Given the description of an element on the screen output the (x, y) to click on. 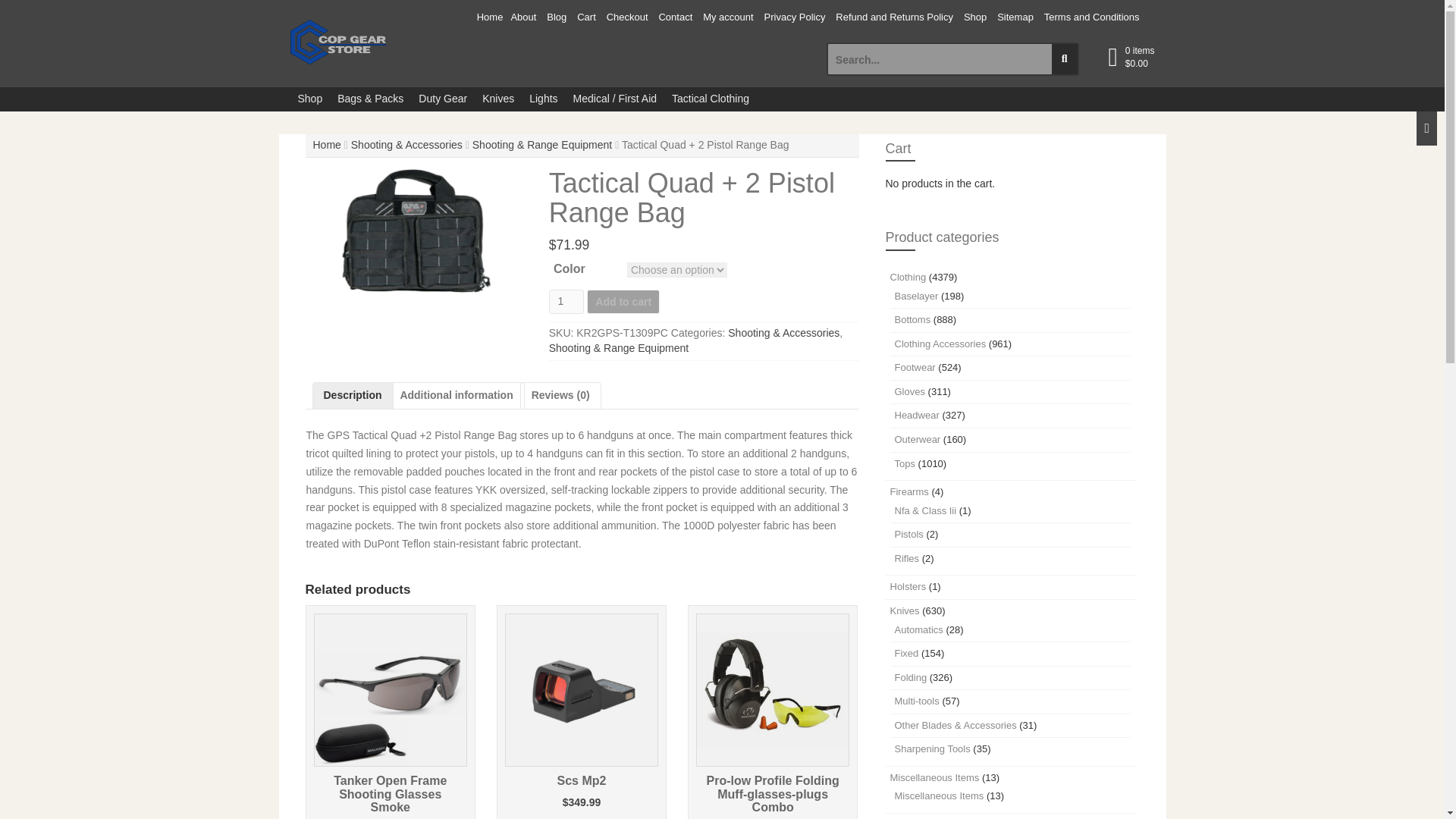
Duty Gear (442, 98)
View your shopping cart (1139, 57)
Contact (674, 17)
Lights (542, 98)
Home (326, 144)
Shop (309, 98)
1 (566, 301)
Description (352, 395)
Add to cart (622, 301)
About (523, 17)
Sitemap (1014, 17)
Blog (556, 17)
Cart (586, 17)
KR2GPS-T1311PCB.png (414, 230)
Refund and Returns Policy (893, 17)
